Given the description of an element on the screen output the (x, y) to click on. 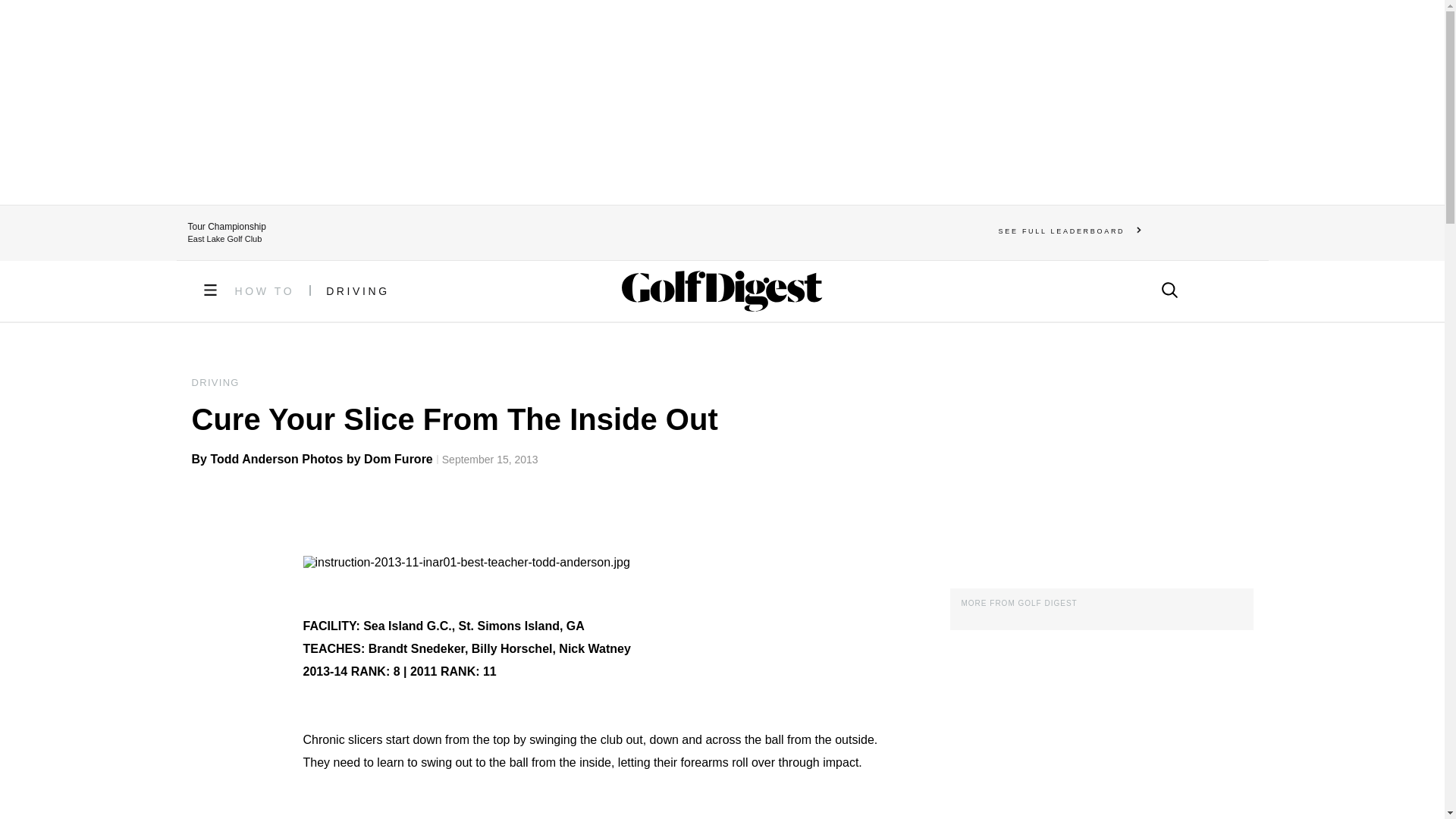
SEE FULL LEADERBOARD (1069, 230)
DRIVING (358, 291)
HOW TO (264, 291)
